Given the description of an element on the screen output the (x, y) to click on. 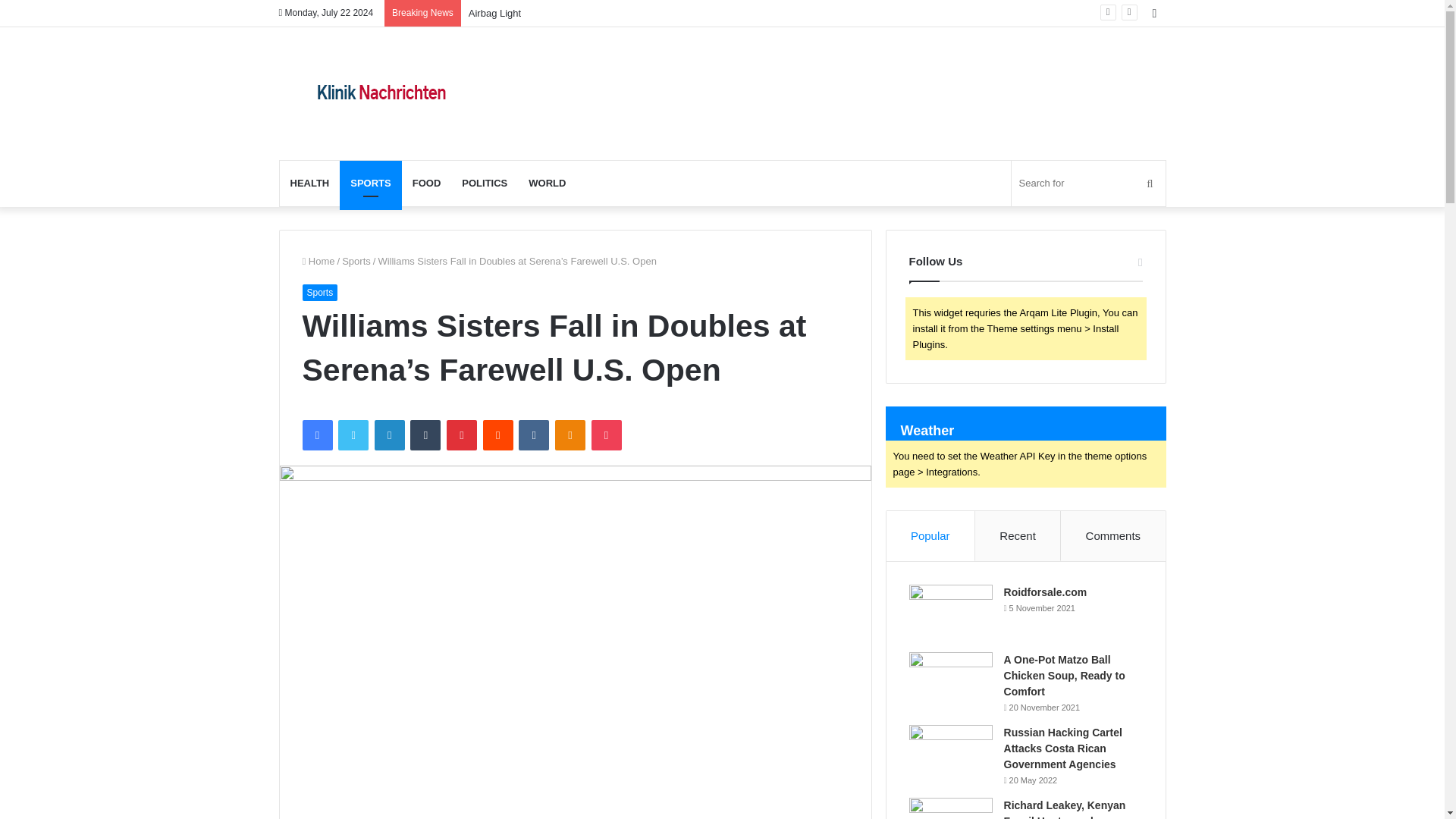
Twitter (352, 435)
Pinterest (461, 435)
Odnoklassniki (569, 435)
Reddit (498, 435)
VKontakte (533, 435)
Pinterest (461, 435)
Klinik Nachrichten (381, 93)
POLITICS (484, 183)
FOOD (426, 183)
VKontakte (533, 435)
LinkedIn (389, 435)
Airbag Light (494, 12)
Sports (356, 260)
LinkedIn (389, 435)
Odnoklassniki (569, 435)
